Given the description of an element on the screen output the (x, y) to click on. 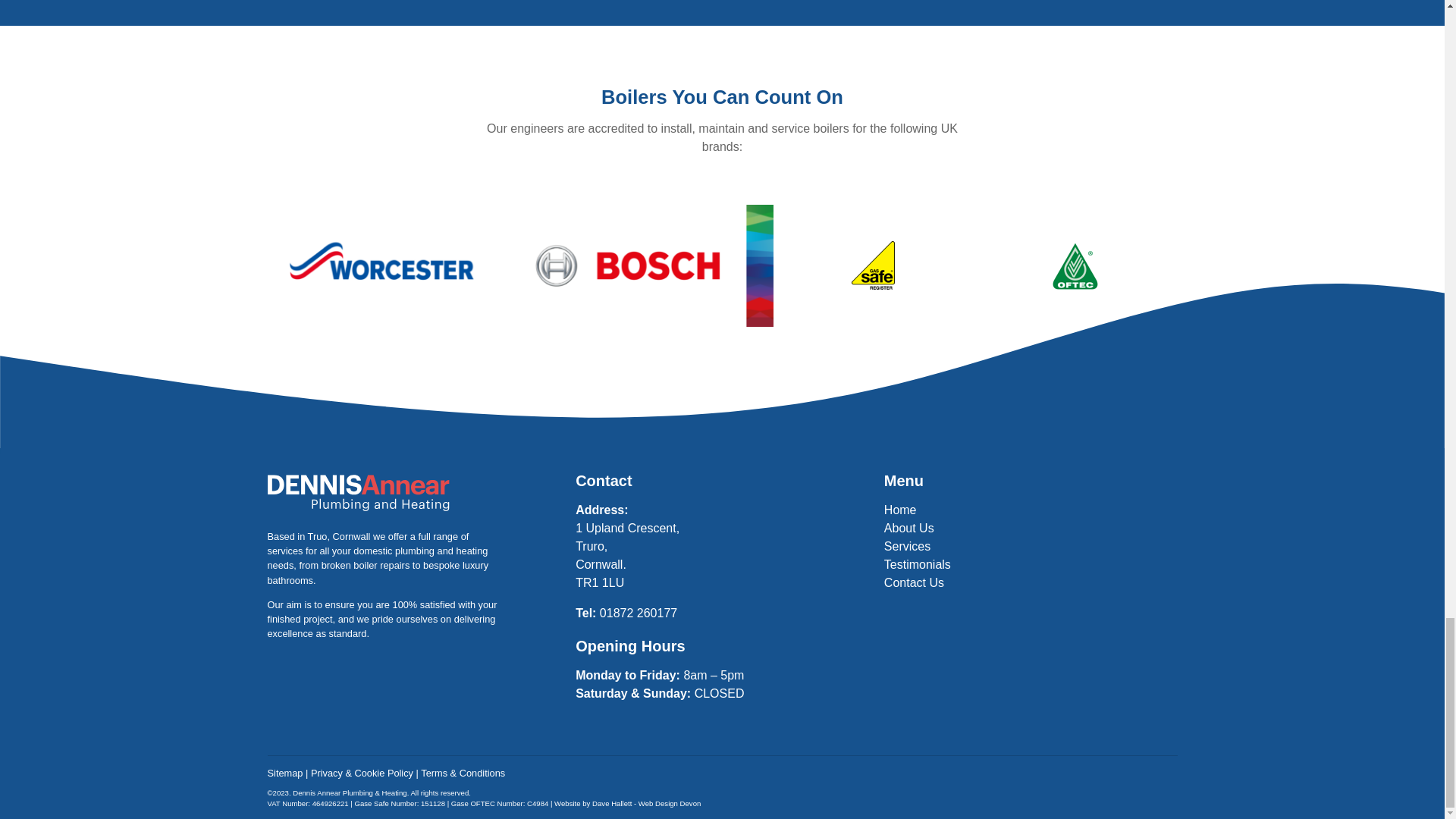
About Us (908, 527)
Home (900, 509)
Contact Us (913, 582)
Web Design Devon (669, 803)
Services (906, 545)
Testimonials (916, 563)
Sitemap (284, 772)
